Given the description of an element on the screen output the (x, y) to click on. 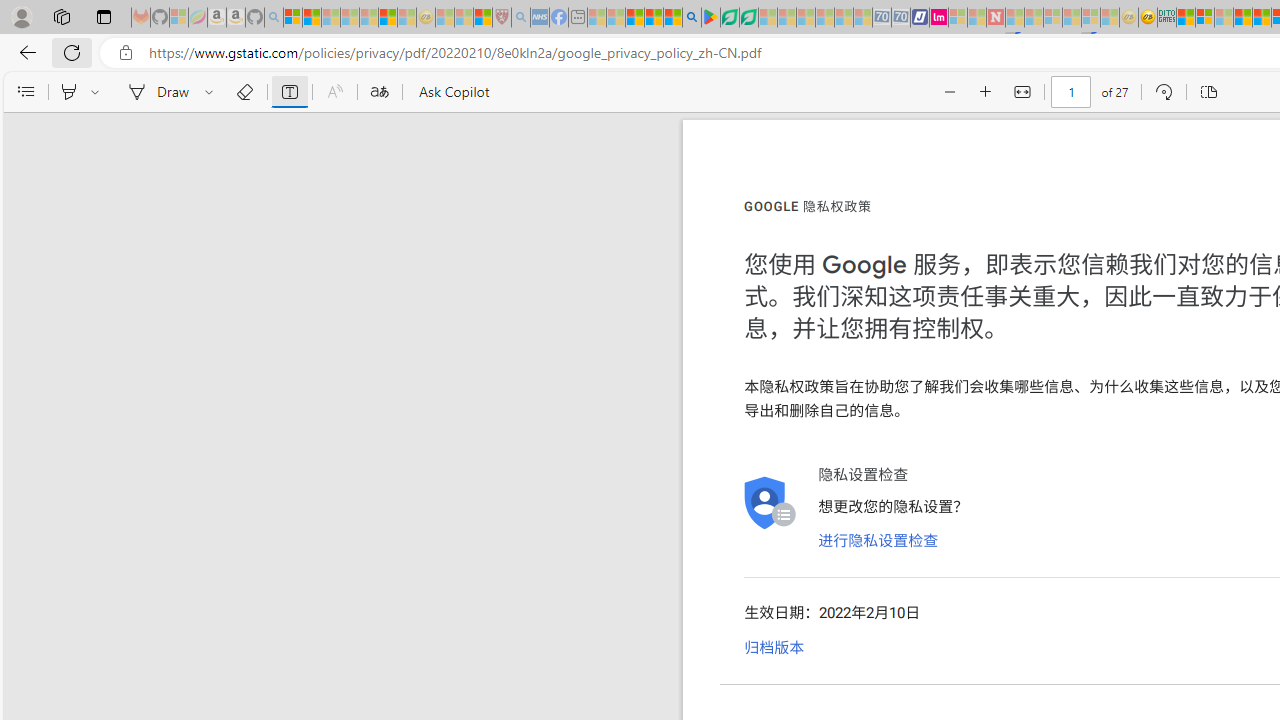
Bluey: Let's Play! - Apps on Google Play (710, 17)
Add text (289, 92)
Highlight (68, 92)
Jobs - lastminute.com Investor Portal (939, 17)
